Given the description of an element on the screen output the (x, y) to click on. 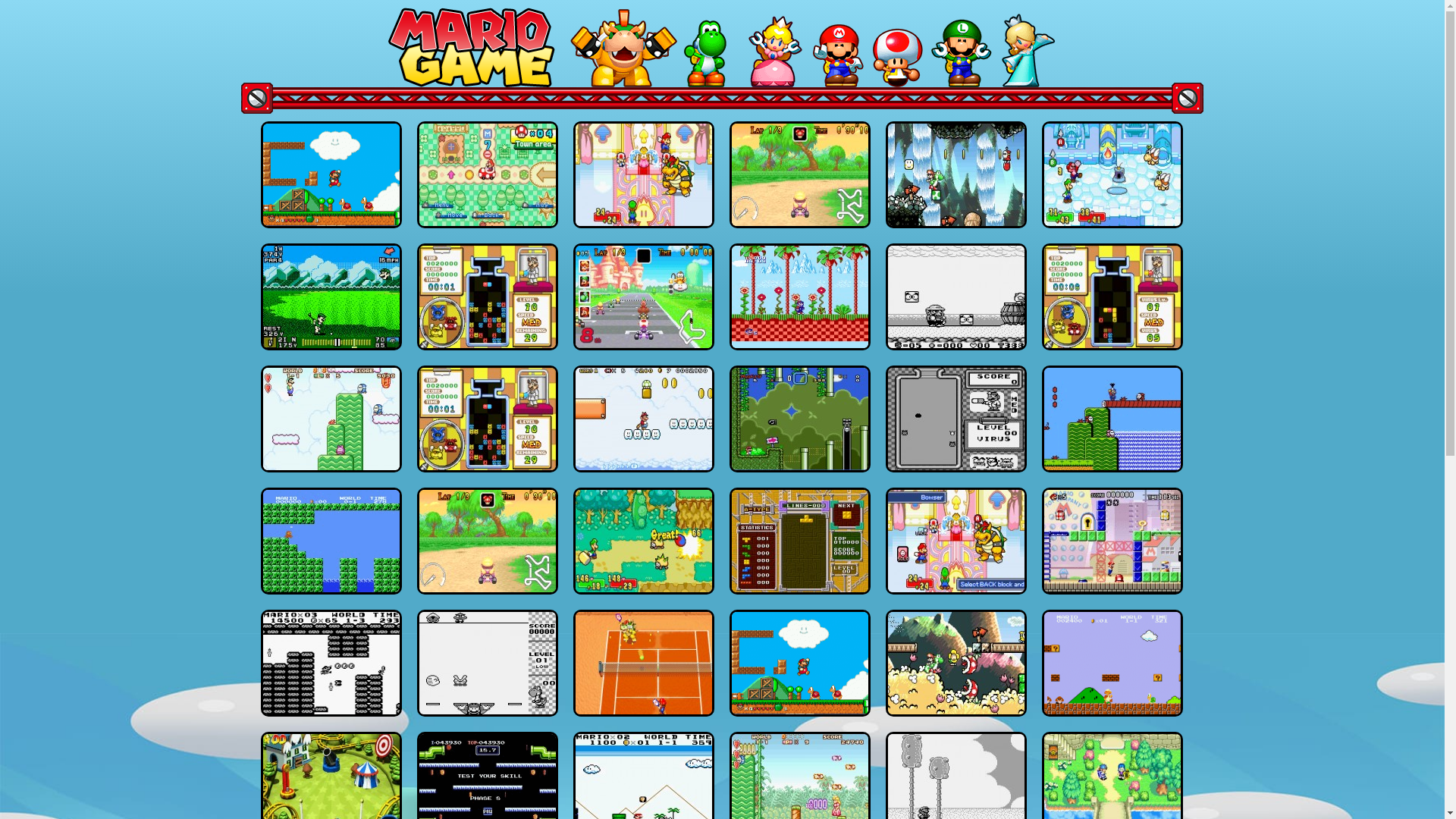
Super Mario World (Hack) Element type: hover (331, 173)
Super Mario Advance 4: Super Mario Bros 3 Element type: hover (643, 417)
Sonic Mario 2 Element type: hover (799, 295)
Mario Golf Element type: hover (331, 295)
Mario & Luigi Superstar Saga Plus (v1.5 Balanced) Element type: hover (956, 539)
Super Mario Bros 2 Element type: hover (1112, 417)
Dr.Mario & Puzzle League Element type: hover (487, 295)
Dr.Mario GameBoy Element type: hover (956, 417)
Tetris and Dr.Mario Element type: hover (799, 539)
Super Mario World (Hack) Element type: hover (799, 661)
Mario Power Tennis Element type: hover (643, 661)
Mario & Yoshi Element type: hover (487, 661)
Super Super Mario Land Element type: hover (331, 661)
Mario & Luigi: Superstar Saga Element type: hover (1112, 173)
MarioGamez.CC - Home Element type: hover (471, 45)
Mario Kart Advance Element type: hover (487, 539)
Super Mario Land 2:6 Golden Coins Element type: hover (956, 783)
Super Mario Bros Genesis Element type: hover (1112, 661)
Mario Pinball Land Element type: hover (331, 783)
Yet Another Mario World Element type: hover (799, 417)
Mario Party Advance Element type: hover (487, 173)
Dr.Mario & Puzzle League Element type: hover (487, 417)
Wario Land: Super Mario Land 3 Element type: hover (956, 295)
Mario Bros Element type: hover (487, 783)
Mario Kart: Super Circuit Element type: hover (643, 295)
Super Mario Advance: Super Mario USA & Mario Brothers Element type: hover (799, 783)
Super Mario Advance 3: Yoshi Element type: hover (956, 661)
Mario vs Donkey Kong Element type: hover (1112, 539)
Super Mario Advance 3: Yoshi Element type: hover (956, 173)
Mario & Luigi Superstar Saga Plus(v1.5) Element type: hover (643, 173)
Mario Kart Advance Element type: hover (799, 173)
Super Mario Land DX Element type: hover (643, 783)
Mario Golf: Advance Tour Element type: hover (1112, 783)
Dr. Mario & Panel de Pon Element type: hover (1112, 295)
Super Mario Advance Element type: hover (331, 417)
Mario & Luigi RPG Element type: hover (643, 539)
Cyborg Mario Element type: hover (331, 539)
